Given the description of an element on the screen output the (x, y) to click on. 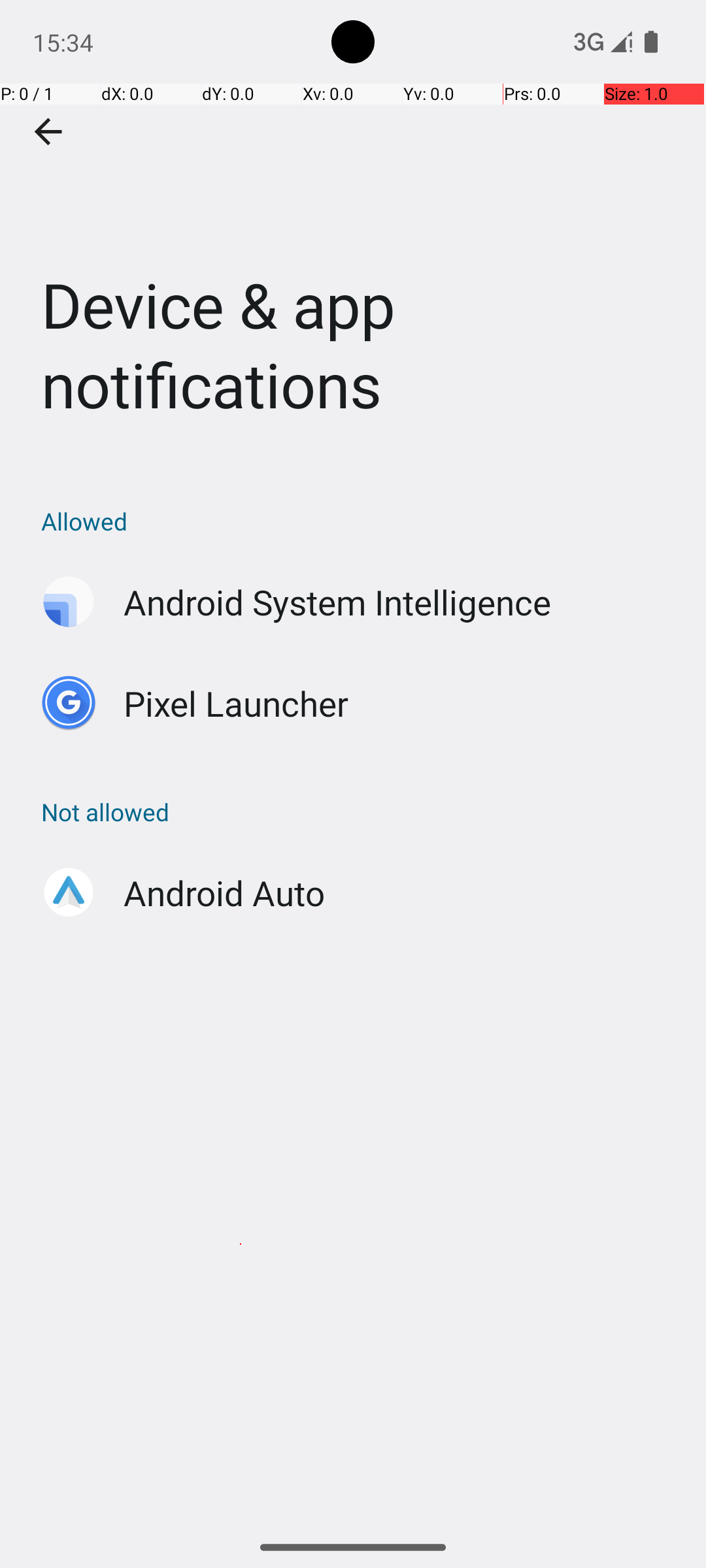
Allowed Element type: android.widget.TextView (359, 520)
Android System Intelligence Element type: android.widget.TextView (337, 601)
Pixel Launcher Element type: android.widget.TextView (236, 703)
Not allowed Element type: android.widget.TextView (359, 811)
Android Auto Element type: android.widget.TextView (223, 892)
